Given the description of an element on the screen output the (x, y) to click on. 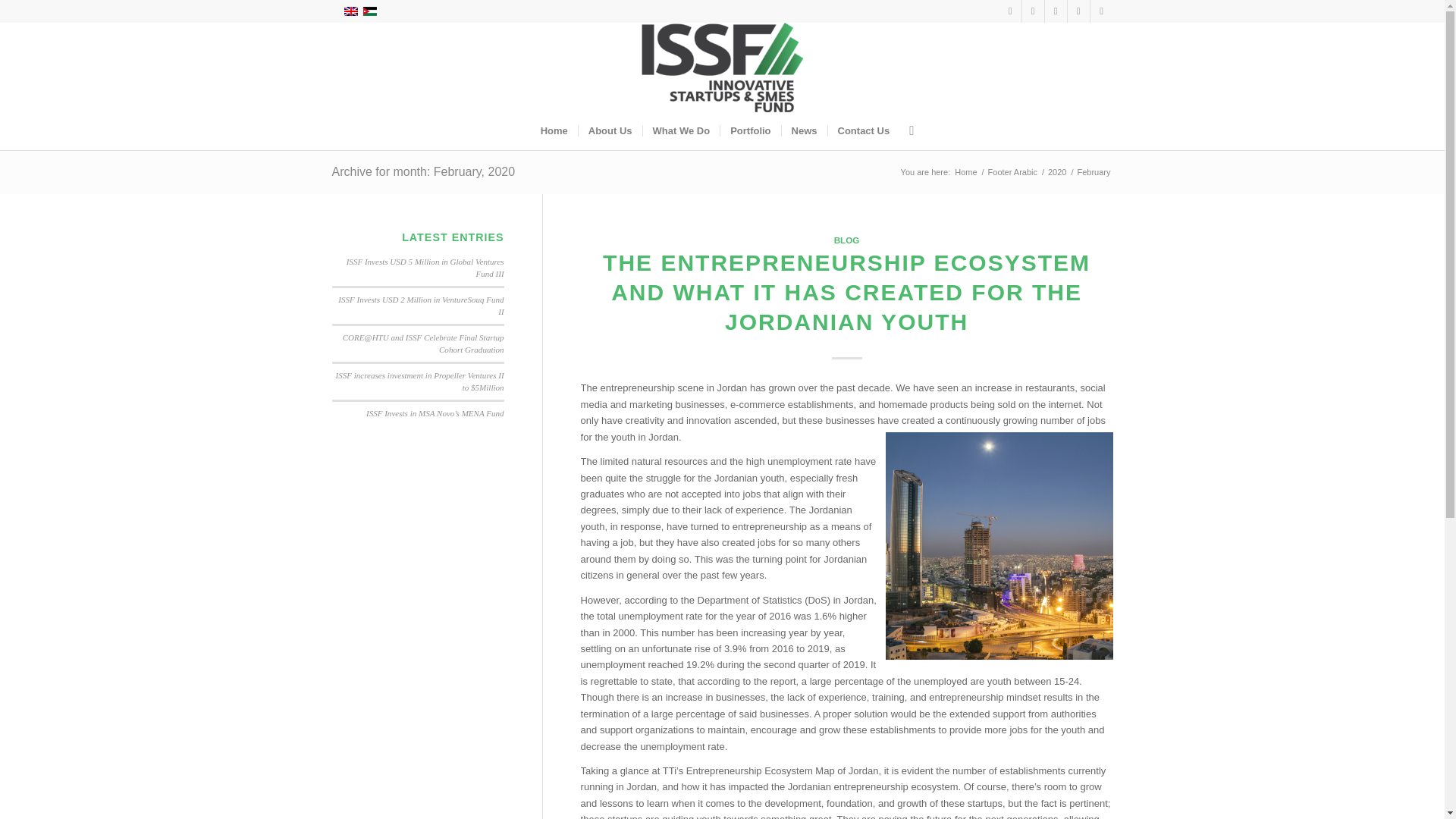
About Us (610, 130)
Footer Arabic (1012, 172)
Instagram (1056, 11)
Contact Us (863, 130)
Portfolio (749, 130)
English (350, 10)
Twitter (1032, 11)
News (803, 130)
Home (554, 130)
Linkedin (1101, 11)
Facebook (1010, 11)
Youtube (1078, 11)
What We Do (681, 130)
